Given the description of an element on the screen output the (x, y) to click on. 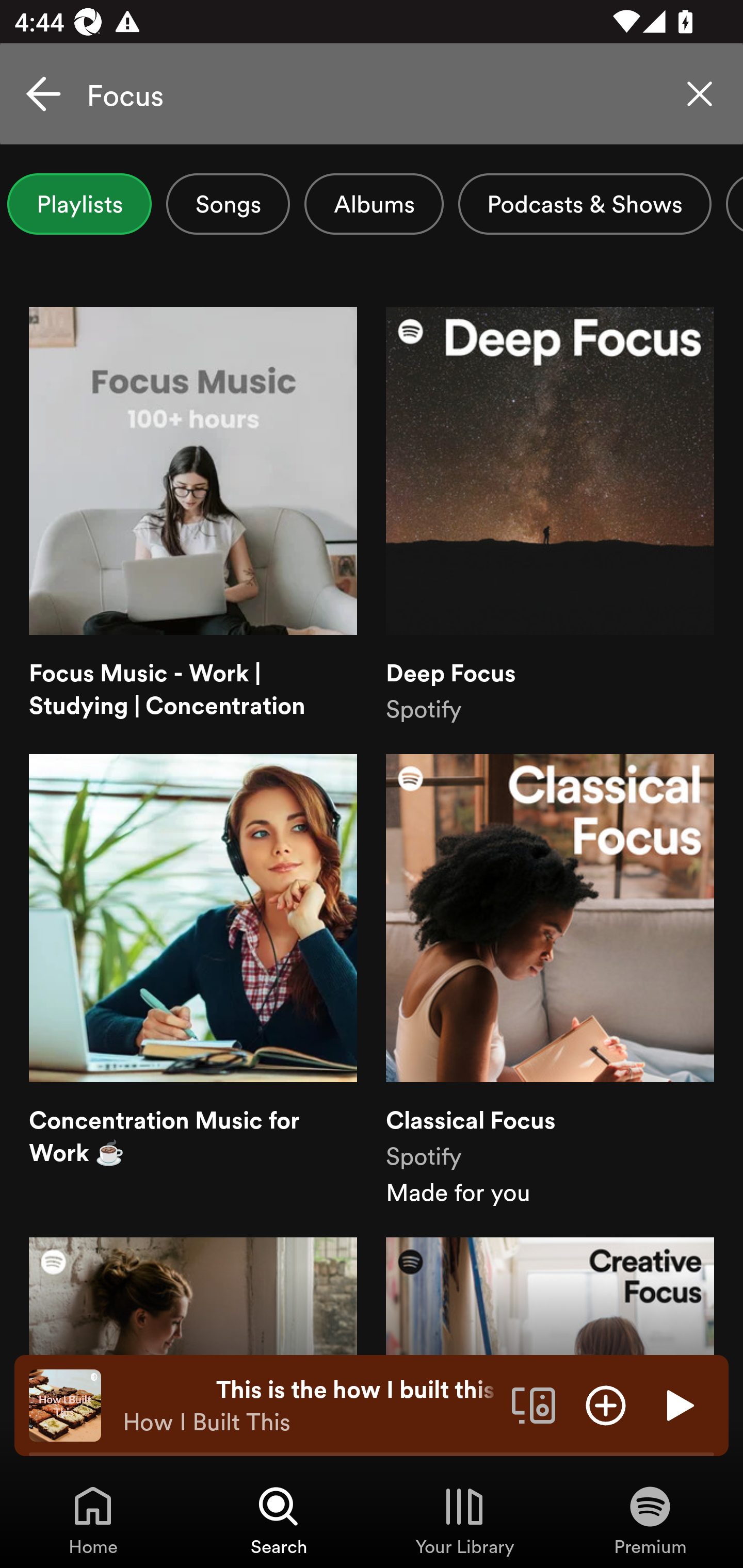
Focus (371, 93)
Cancel (43, 93)
Clear search query (699, 93)
Playlists (79, 203)
Songs (227, 203)
Albums (373, 203)
Podcasts & Shows (584, 203)
Focus Music - Work | Studying | Concentration (192, 515)
Deep Focus Spotify (549, 515)
Concentration Music for Work ☕ (192, 981)
Classical Focus Spotify Made for you (549, 981)
The cover art of the currently playing track (64, 1404)
Connect to a device. Opens the devices menu (533, 1404)
Add item (605, 1404)
Play (677, 1404)
Home, Tab 1 of 4 Home Home (92, 1519)
Search, Tab 2 of 4 Search Search (278, 1519)
Your Library, Tab 3 of 4 Your Library Your Library (464, 1519)
Premium, Tab 4 of 4 Premium Premium (650, 1519)
